Given the description of an element on the screen output the (x, y) to click on. 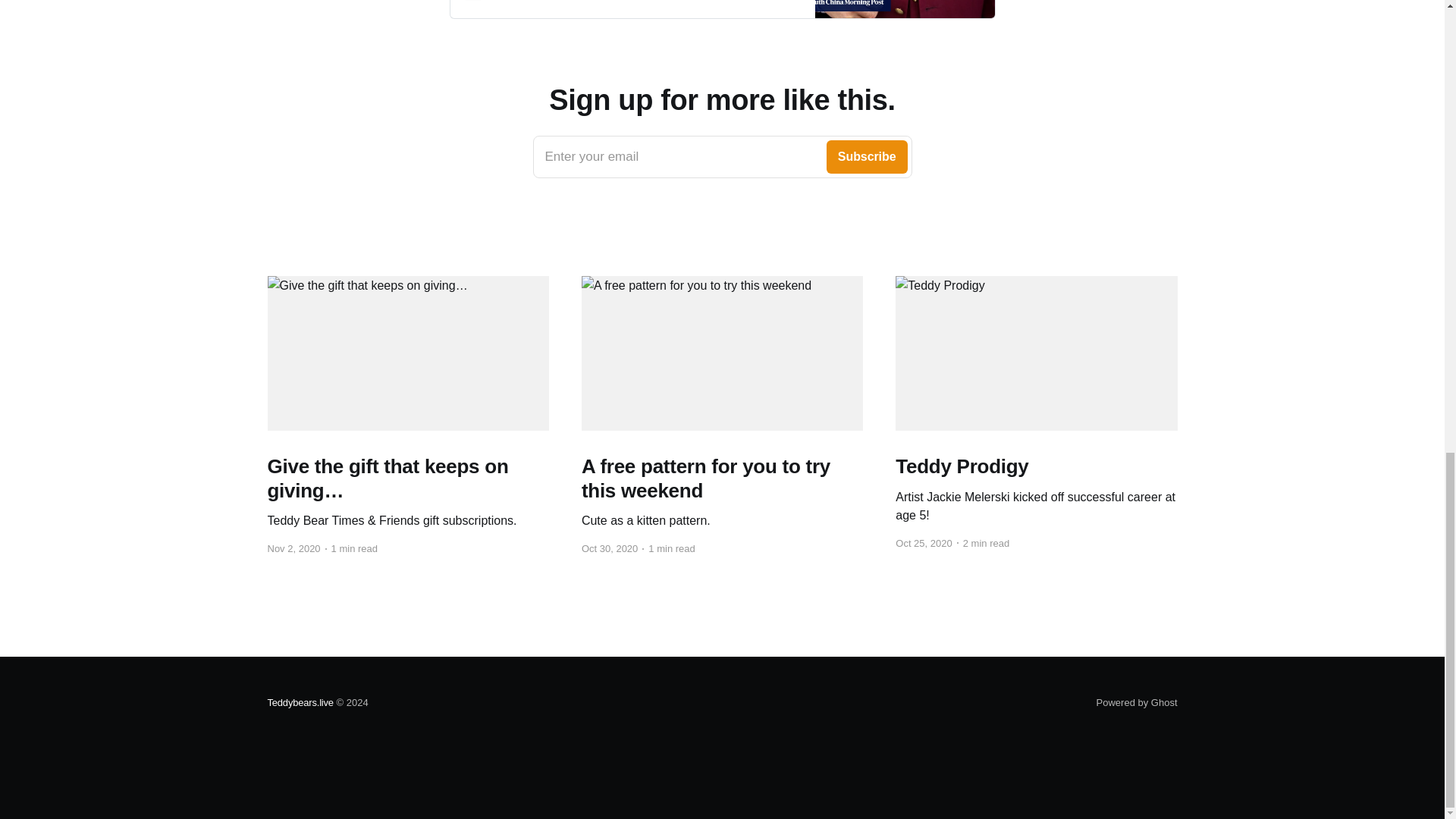
Teddybears.live (299, 702)
Powered by Ghost (721, 156)
